Given the description of an element on the screen output the (x, y) to click on. 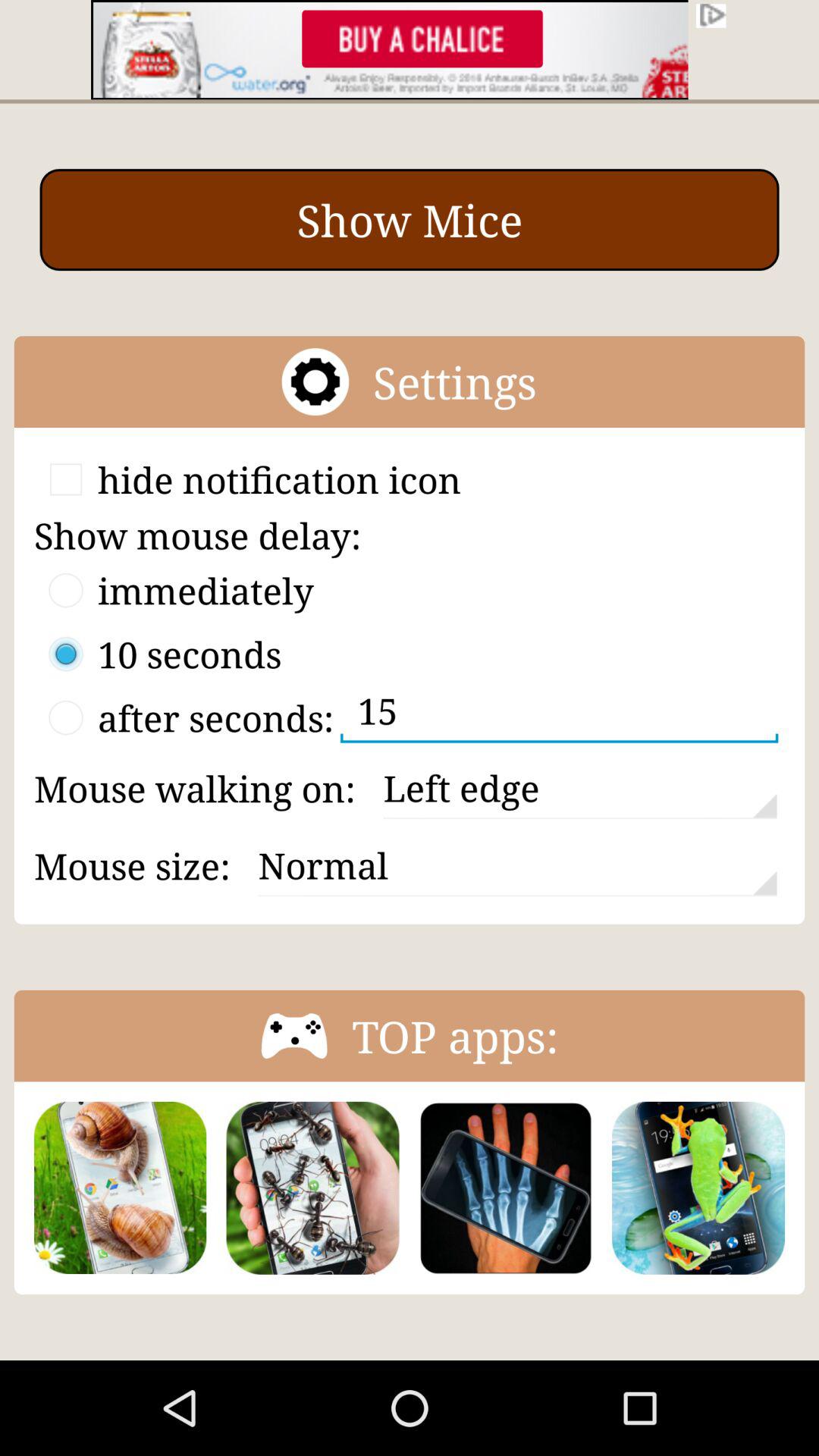
click to the app (697, 1187)
